Given the description of an element on the screen output the (x, y) to click on. 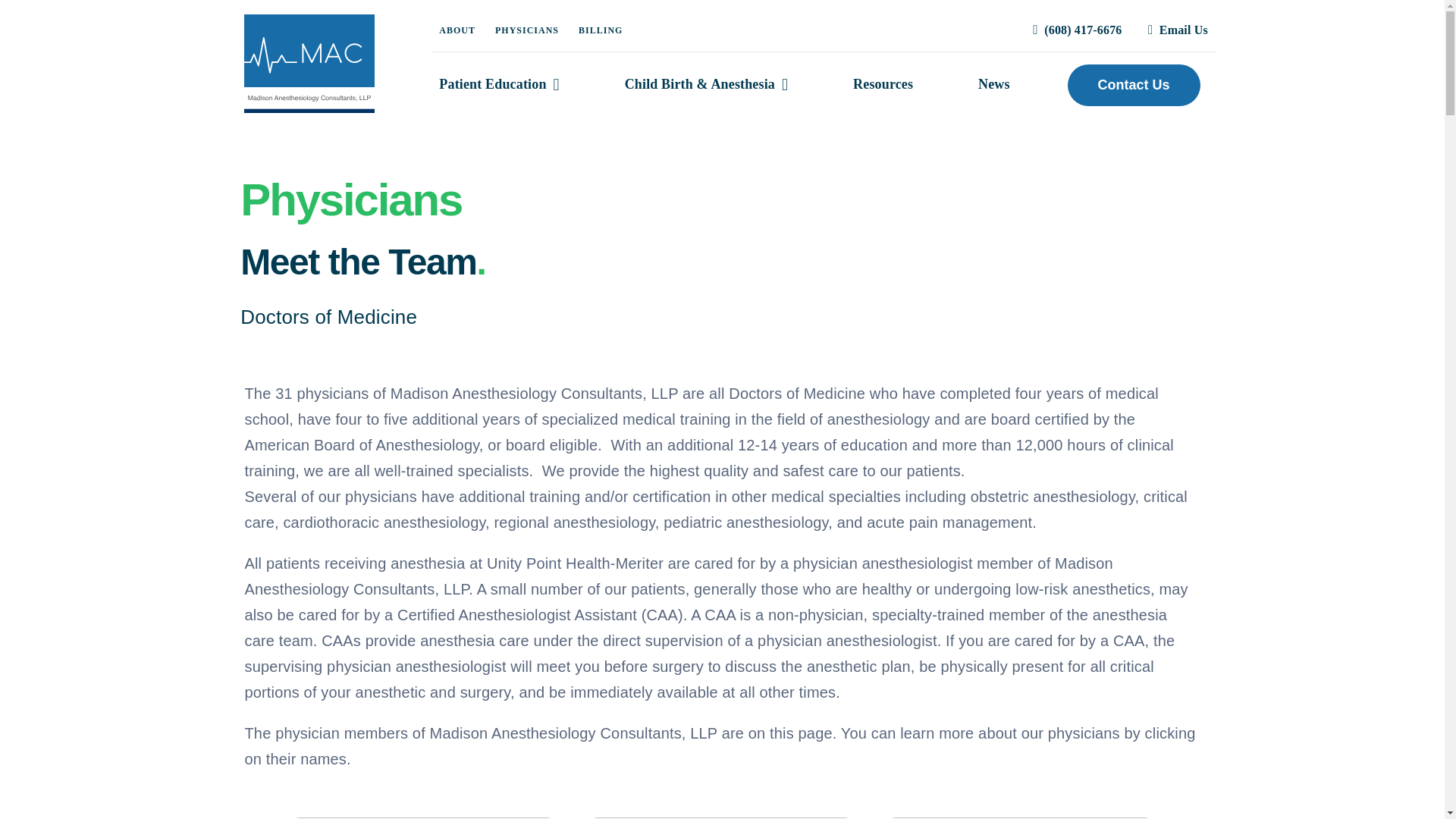
PHYSICIANS (526, 30)
Contact Us (1133, 85)
ABOUT (456, 30)
Patient Education (498, 85)
Resources (882, 85)
Email Us (1174, 30)
BILLING (600, 30)
News (994, 85)
